Given the description of an element on the screen output the (x, y) to click on. 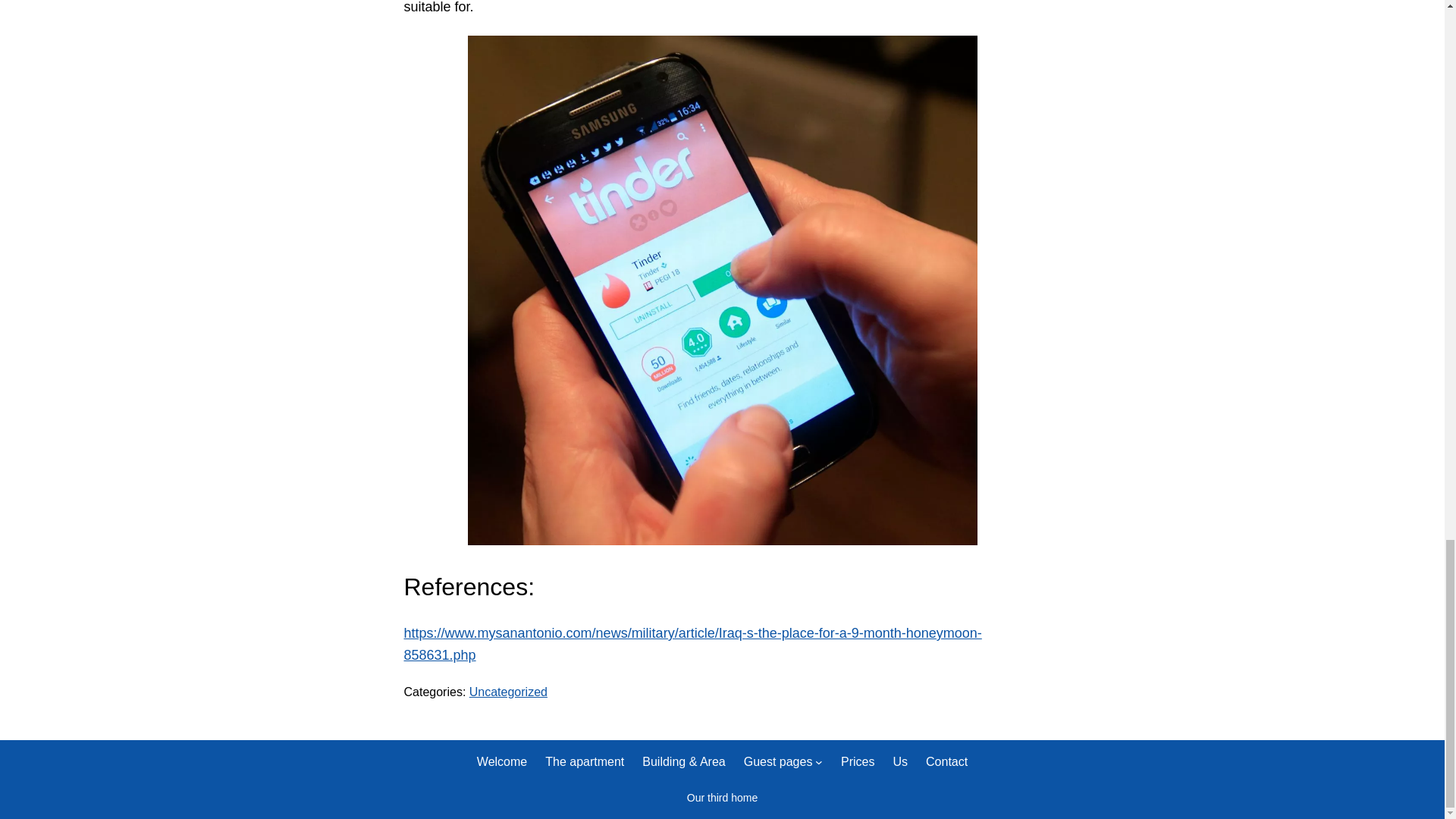
The apartment (584, 762)
Contact (947, 762)
Guest pages (778, 762)
Uncategorized (507, 691)
Welcome (502, 762)
Prices (858, 762)
